Given the description of an element on the screen output the (x, y) to click on. 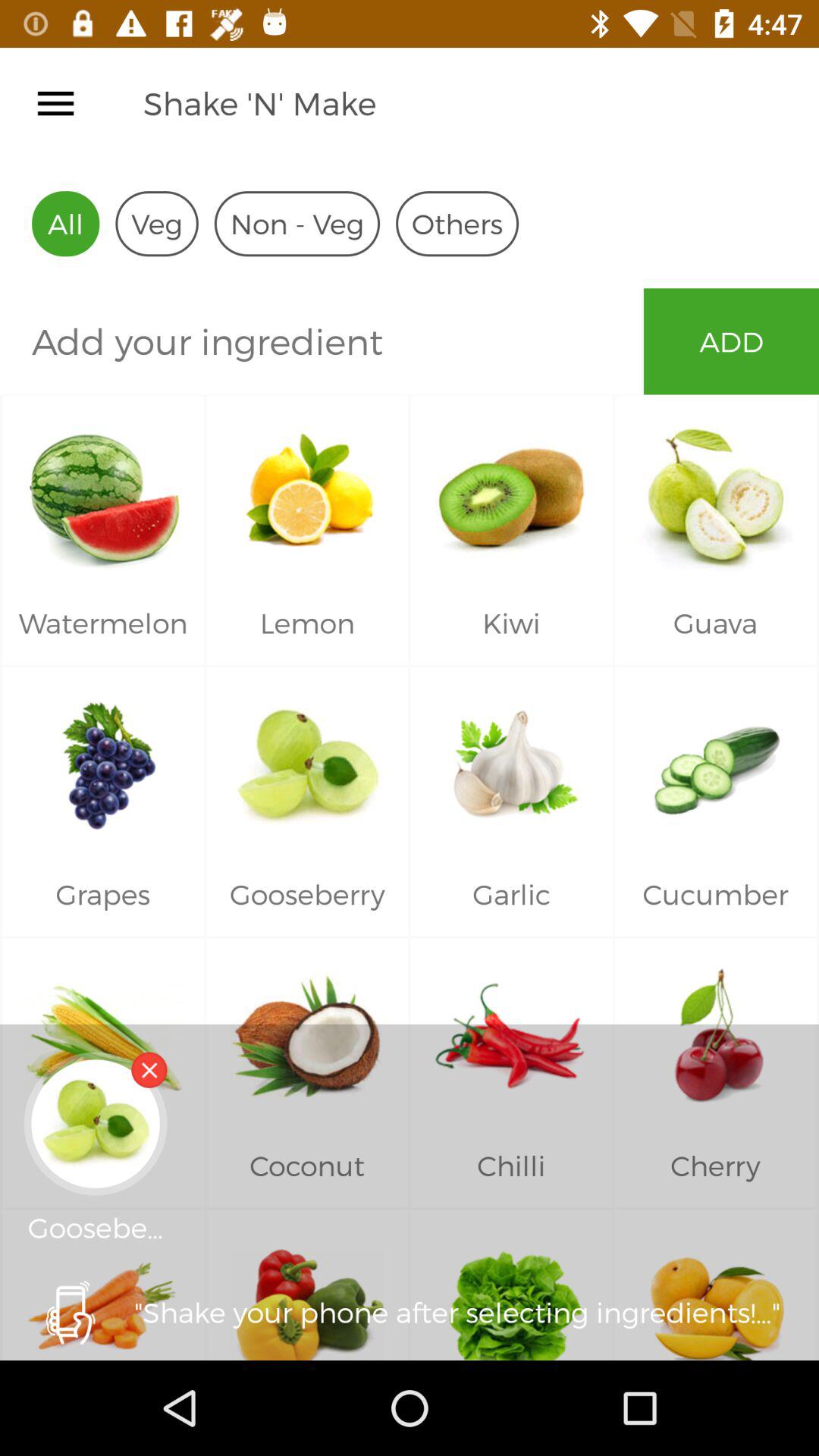
option (55, 103)
